Given the description of an element on the screen output the (x, y) to click on. 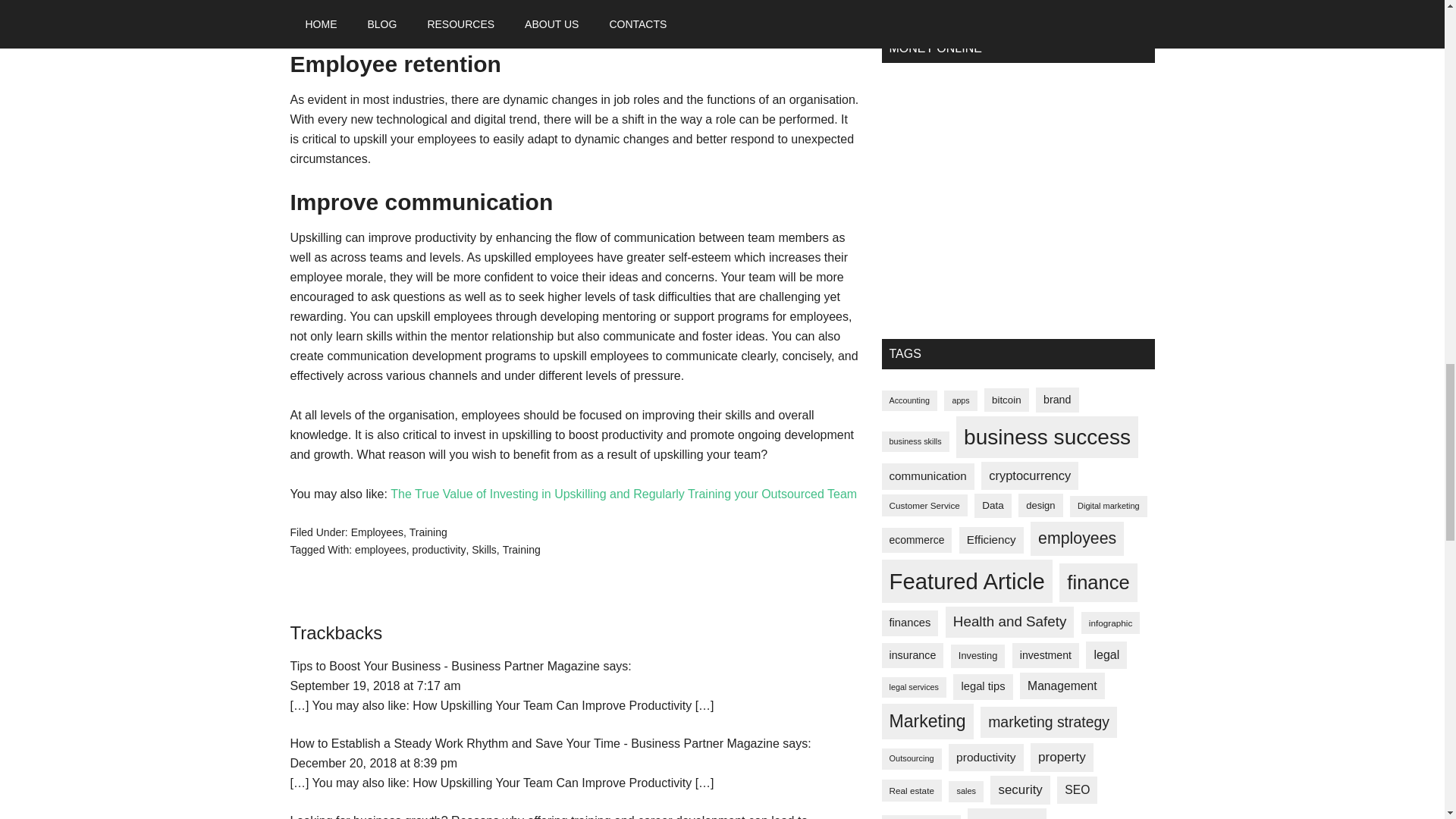
Tips to Boost Your Business - Business Partner Magazine (444, 666)
September 19, 2018 at 7:17 am (374, 685)
Training (427, 532)
December 20, 2018 at 8:39 pm (373, 762)
Employees (376, 532)
Skills (483, 549)
Training (521, 549)
productivity (438, 549)
